Given the description of an element on the screen output the (x, y) to click on. 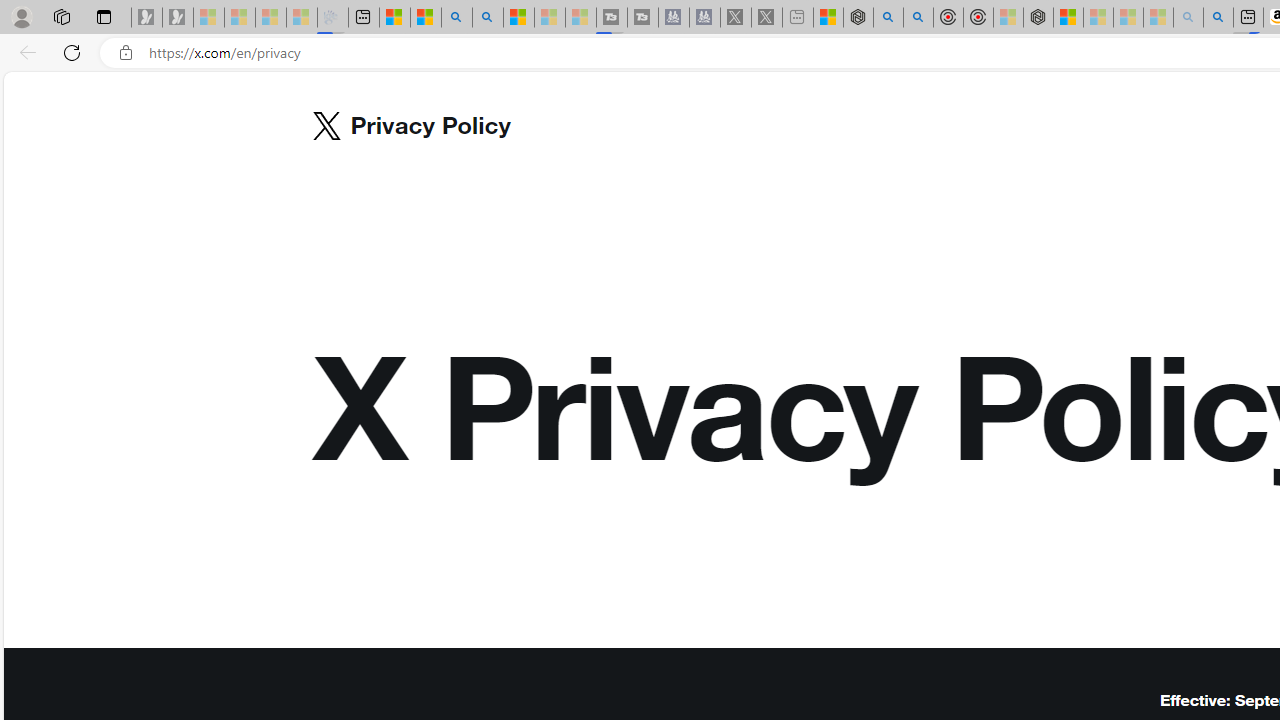
View site information (125, 53)
poe - Search (888, 17)
X - Sleeping (766, 17)
